Given the description of an element on the screen output the (x, y) to click on. 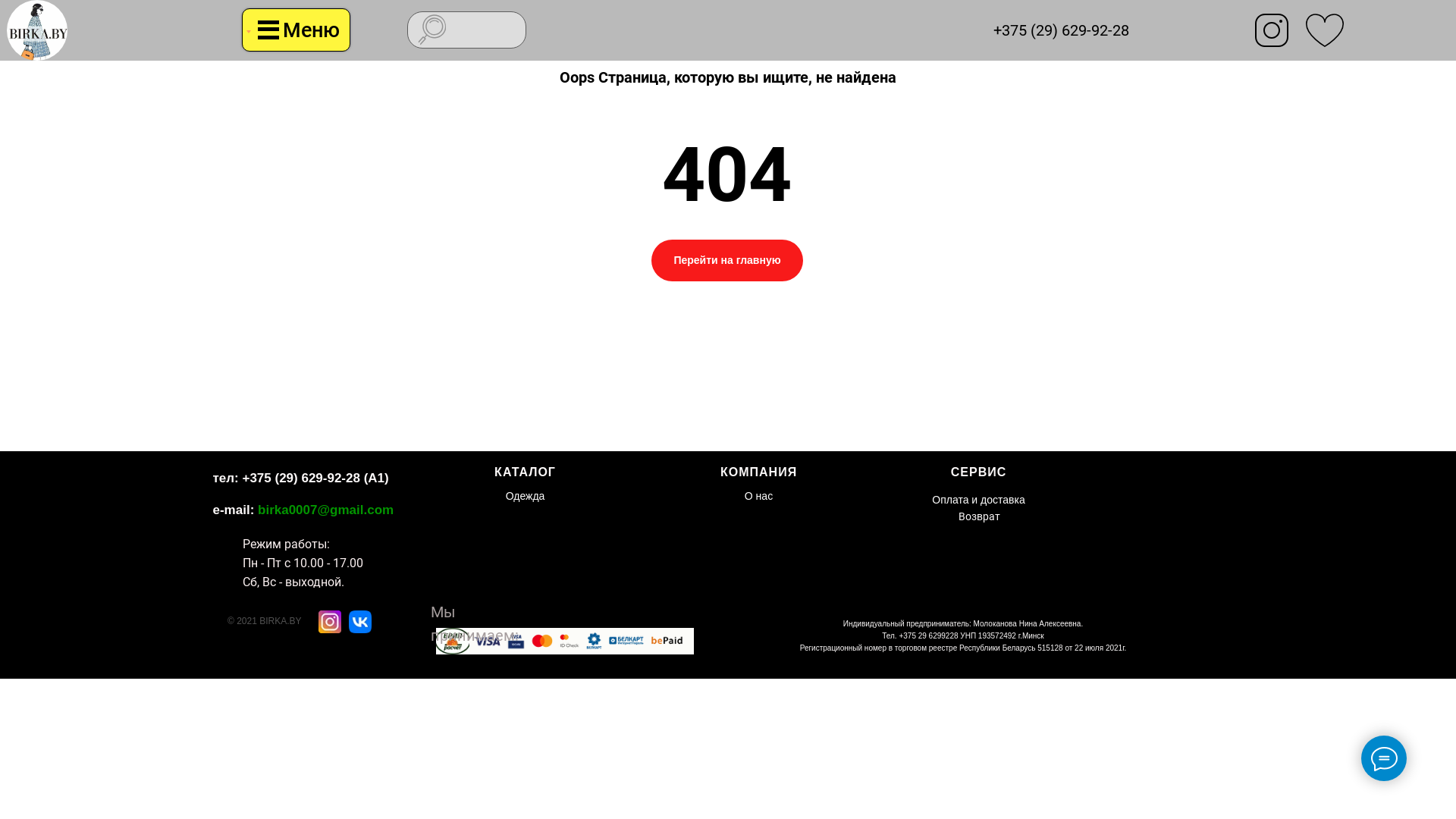
birka0007@gmail.com Element type: text (325, 509)
+375 (29) 629-92-28 Element type: text (300, 477)
+375 (29) 629-92-28 Element type: text (1061, 30)
